Given the description of an element on the screen output the (x, y) to click on. 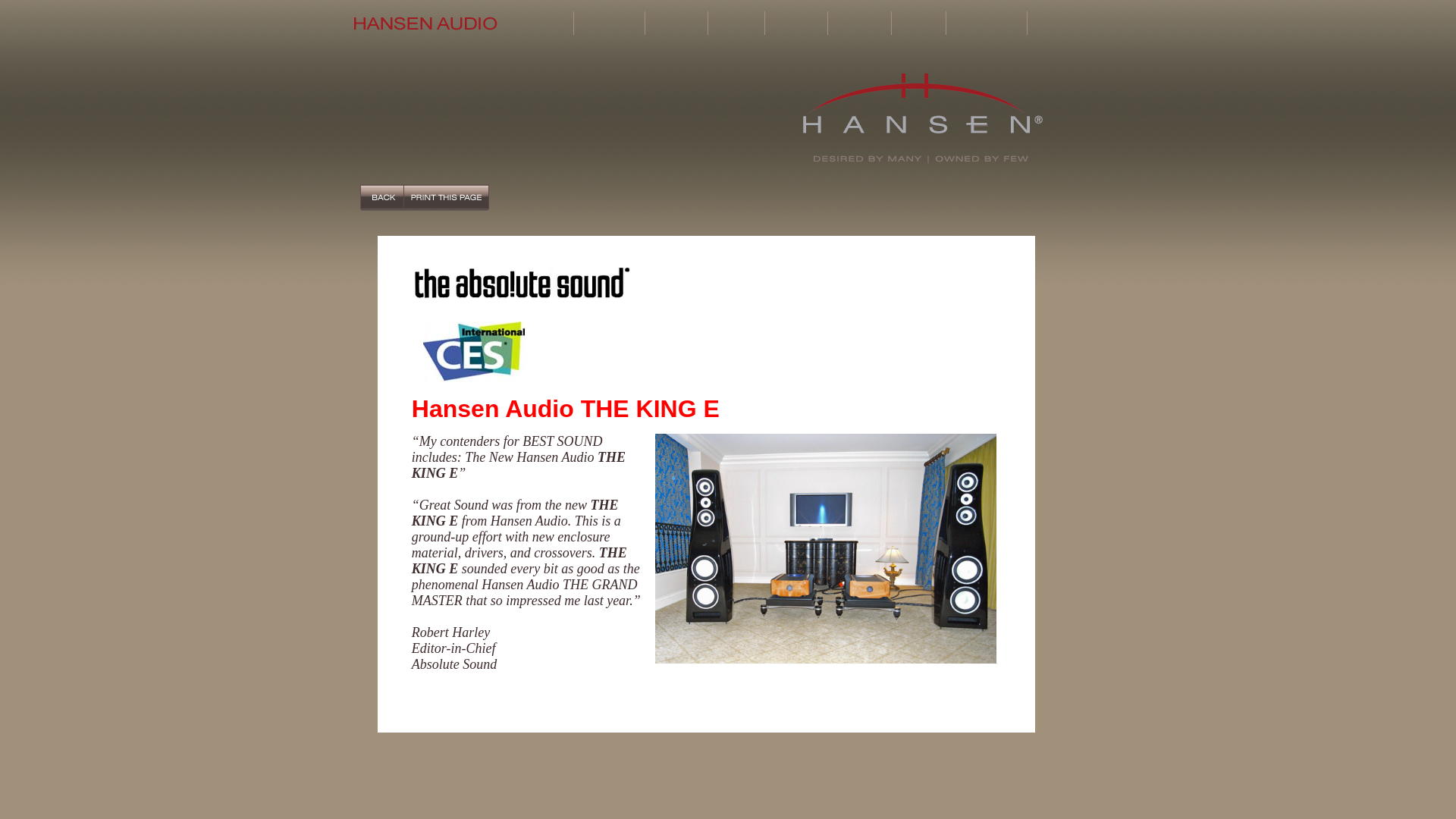
Awards (917, 23)
Home Page (552, 23)
go to the previous page (381, 197)
Print this review (446, 197)
Where to Buy Hansen Audio Products (986, 23)
Contact Hansen Audio (1062, 23)
HANSEN AUDIO (922, 117)
